Given the description of an element on the screen output the (x, y) to click on. 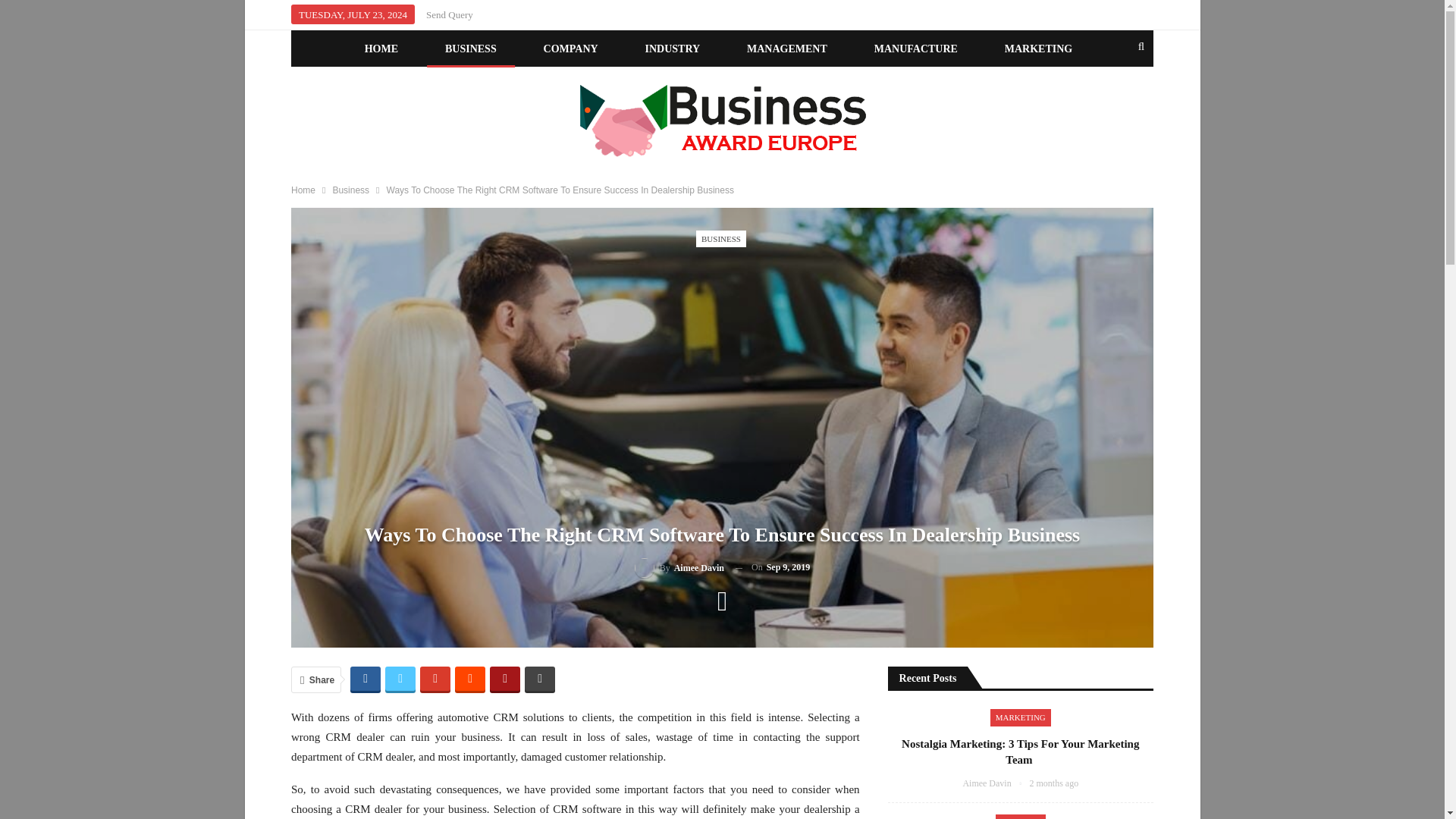
Browse Author Articles (678, 567)
Send Query (449, 14)
BUSINESS (470, 48)
MORE (718, 85)
Browse Author Articles (995, 783)
COMPANY (570, 48)
INDUSTRY (673, 48)
Business (350, 190)
MARKETING (1038, 48)
By Aimee Davin (678, 567)
BUSINESS (720, 239)
MANAGEMENT (787, 48)
HOME (381, 48)
MANUFACTURE (915, 48)
